Given the description of an element on the screen output the (x, y) to click on. 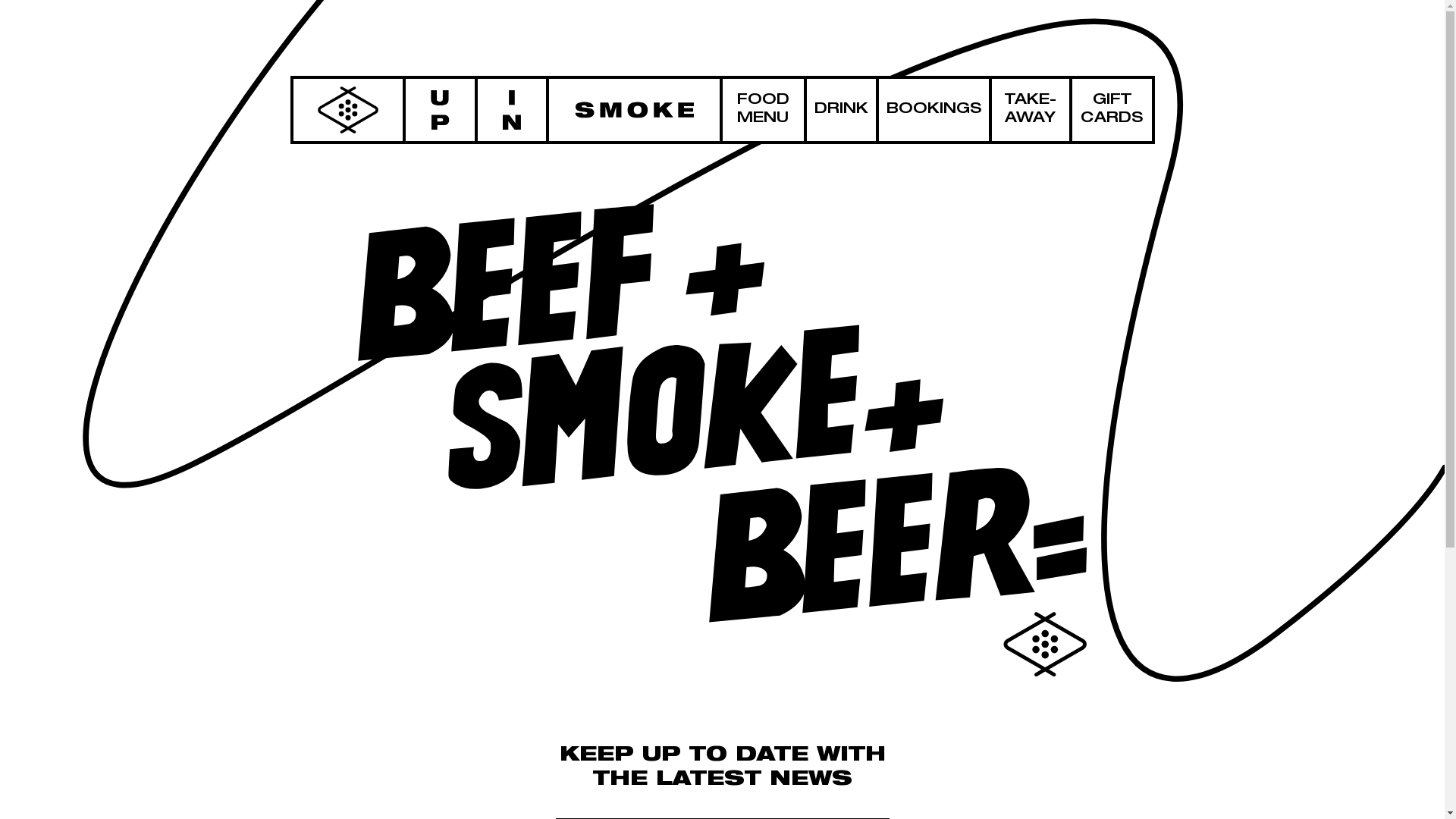
GIFT CARDS Element type: text (1111, 109)
TAKE-AWAY Element type: text (1030, 109)
DRINK Element type: text (840, 109)
FOOD MENU Element type: text (762, 109)
BOOKINGS Element type: text (933, 109)
